Given the description of an element on the screen output the (x, y) to click on. 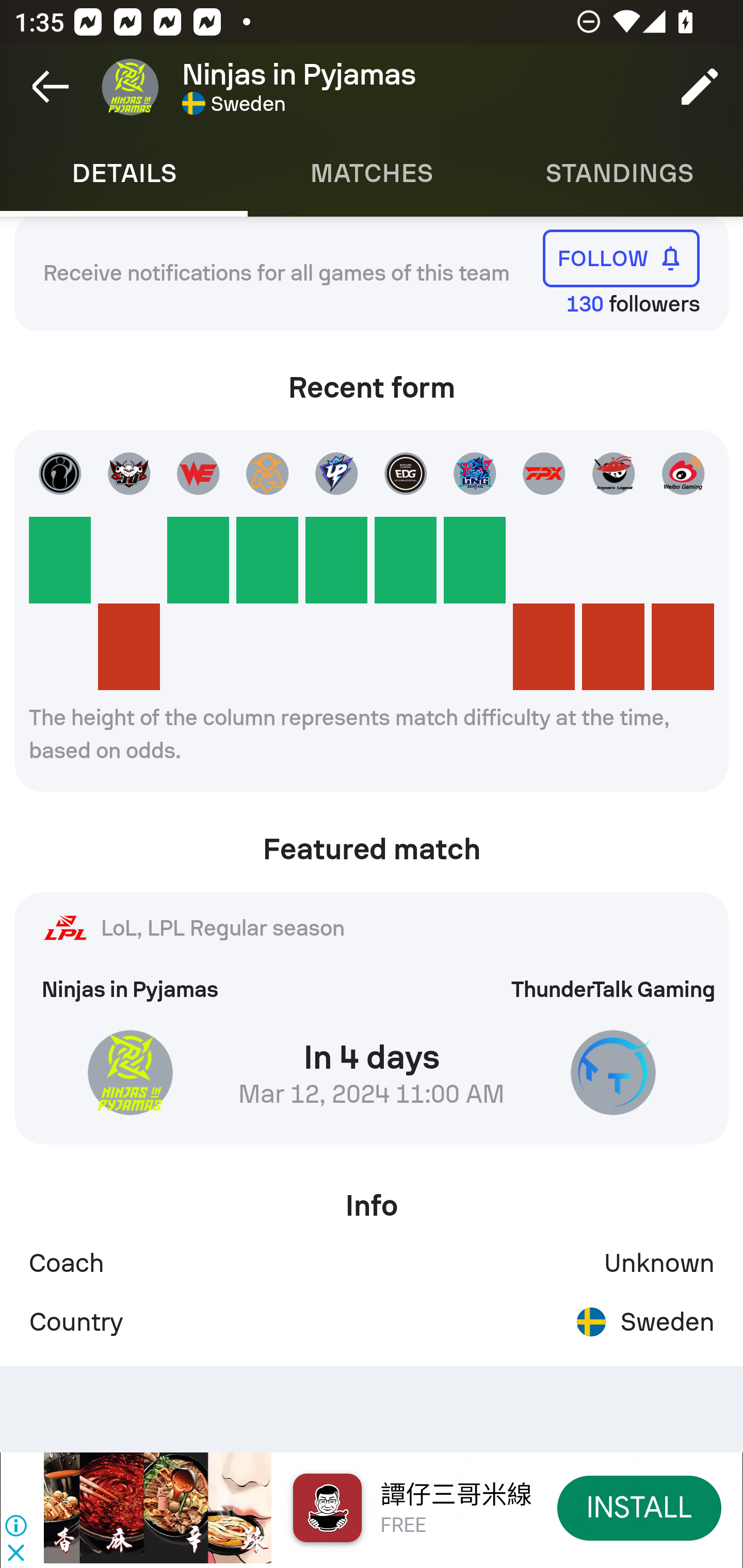
Navigate up (50, 86)
Edit (699, 86)
Matches MATCHES (371, 173)
Standings STANDINGS (619, 173)
FOLLOW (621, 257)
INSTALL (639, 1507)
譚仔三哥米線 (455, 1494)
FREE (403, 1525)
